Given the description of an element on the screen output the (x, y) to click on. 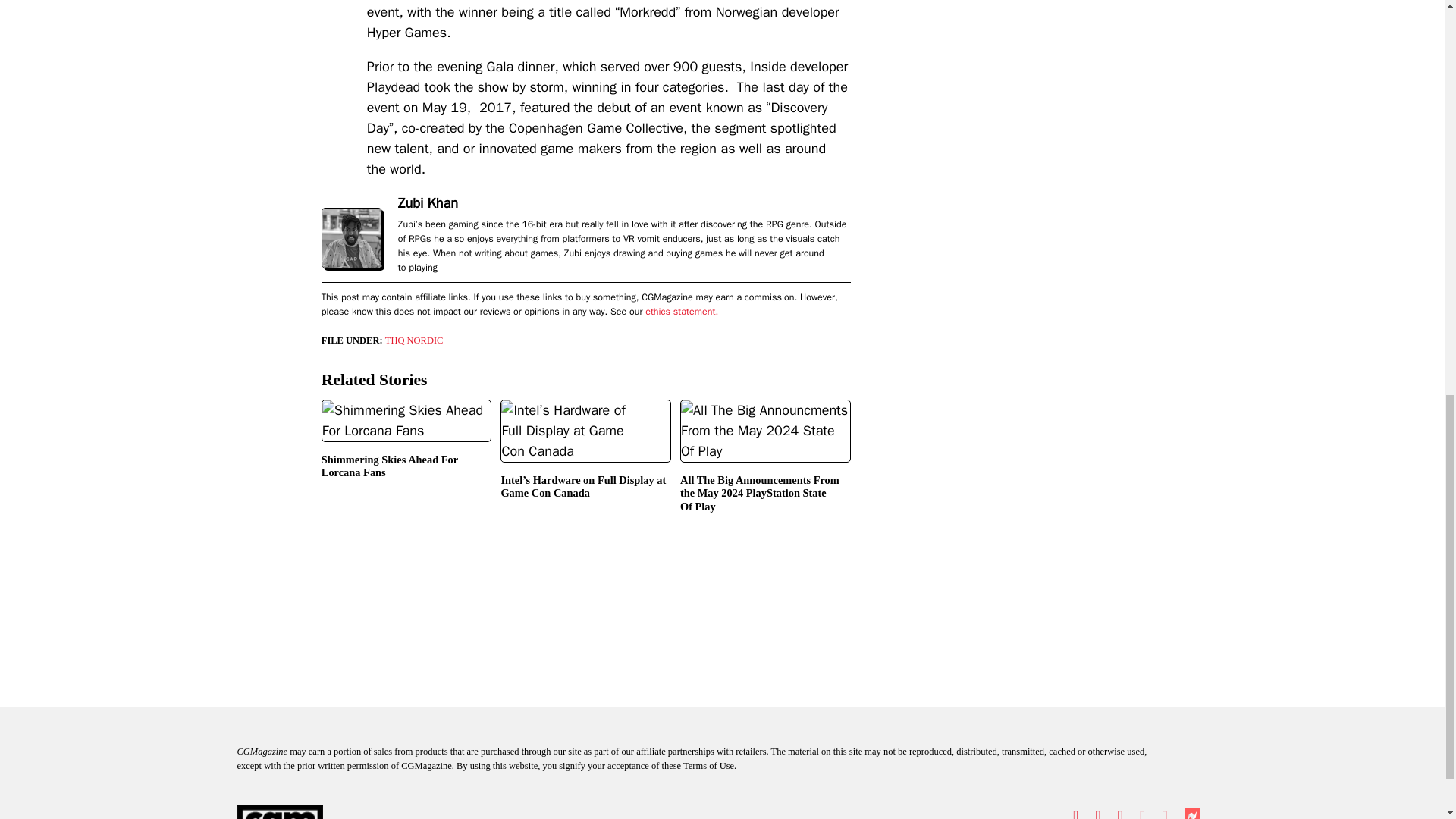
Zubi Khan (427, 203)
Instagram Profile (1120, 811)
NewsBreak (1190, 813)
Flipboard Page (1163, 811)
CGMagazine (353, 811)
Twitter Profile (1075, 811)
YouTube Page (1142, 811)
Facebook Page (1097, 811)
